Given the description of an element on the screen output the (x, y) to click on. 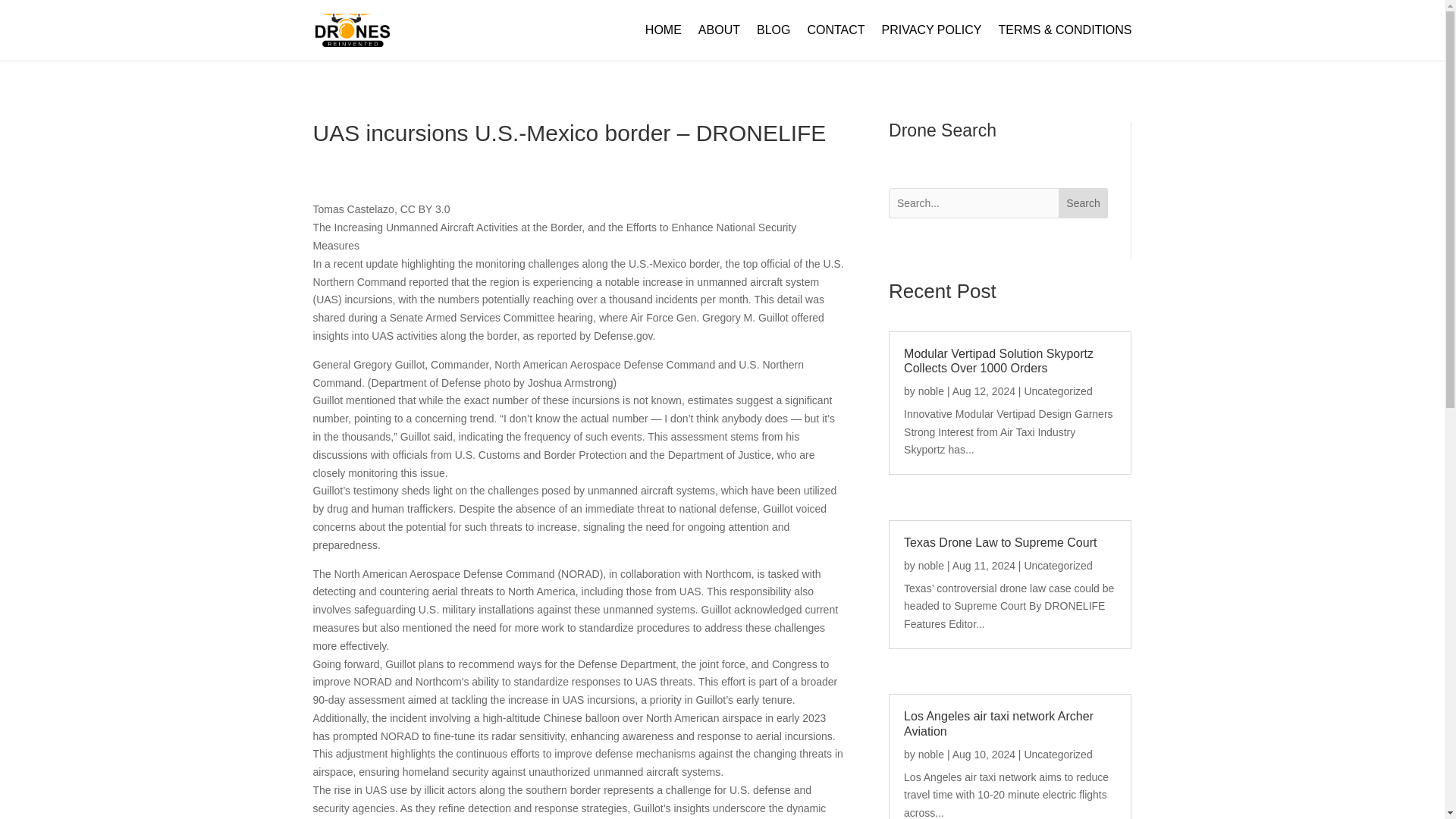
noble (930, 754)
noble (930, 390)
Modular Vertipad Solution Skyportz Collects Over 1000 Orders (998, 360)
Posts by noble (930, 565)
Search (1083, 203)
Los Angeles air taxi network Archer Aviation (998, 723)
ABOUT (718, 42)
Texas Drone Law to Supreme Court (1000, 542)
Uncategorized (1057, 390)
noble (930, 565)
